Given the description of an element on the screen output the (x, y) to click on. 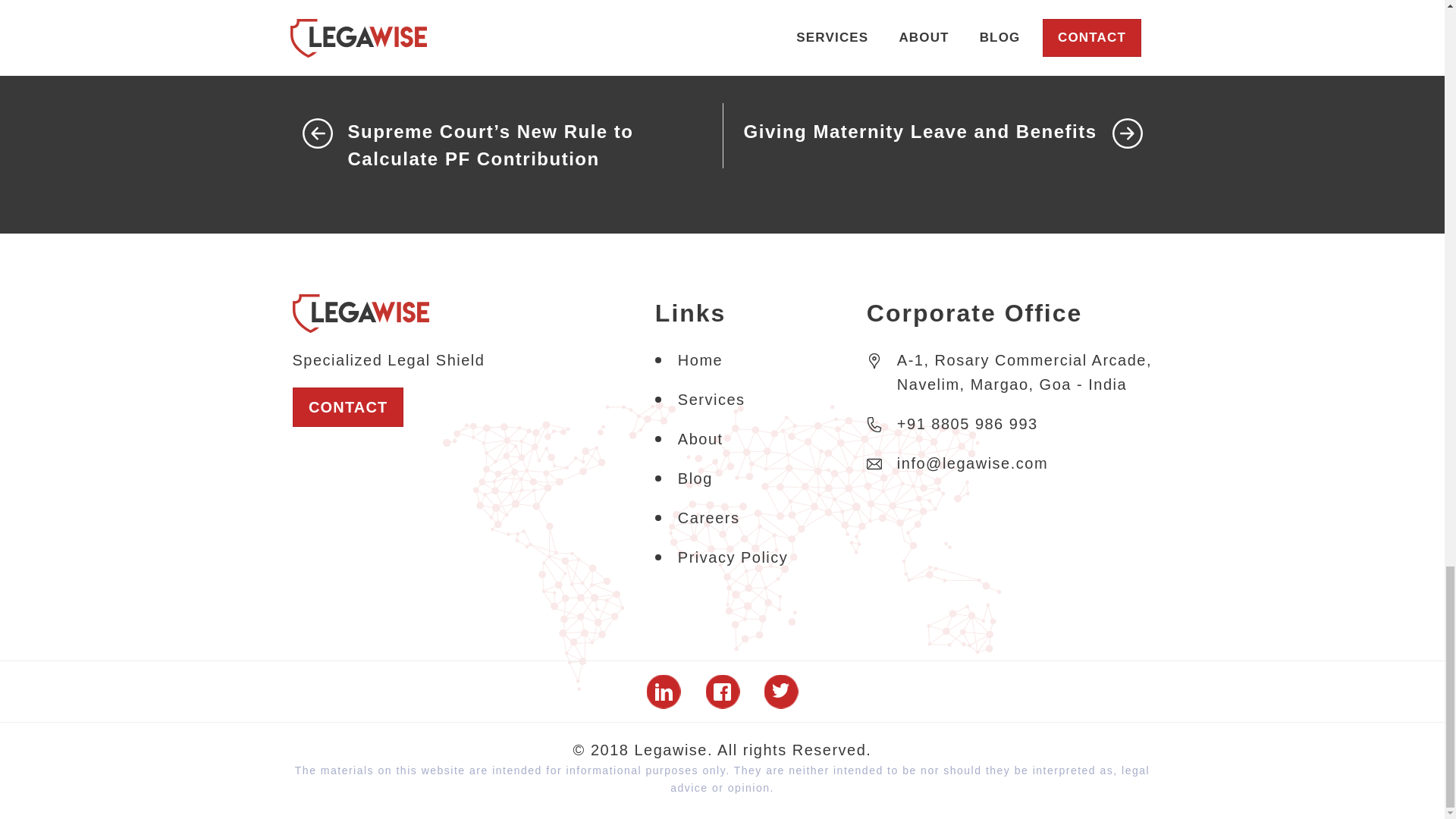
Blog (695, 478)
A-1, Rosary Commercial Arcade, Navelim, Margao, Goa - India (1009, 379)
About (700, 438)
Careers (708, 517)
Contact (347, 406)
CONTACT (347, 406)
Home (700, 360)
Giving Maternity Leave and Benefits (912, 131)
Privacy Policy (732, 556)
Services (711, 399)
legawise (360, 312)
